Given the description of an element on the screen output the (x, y) to click on. 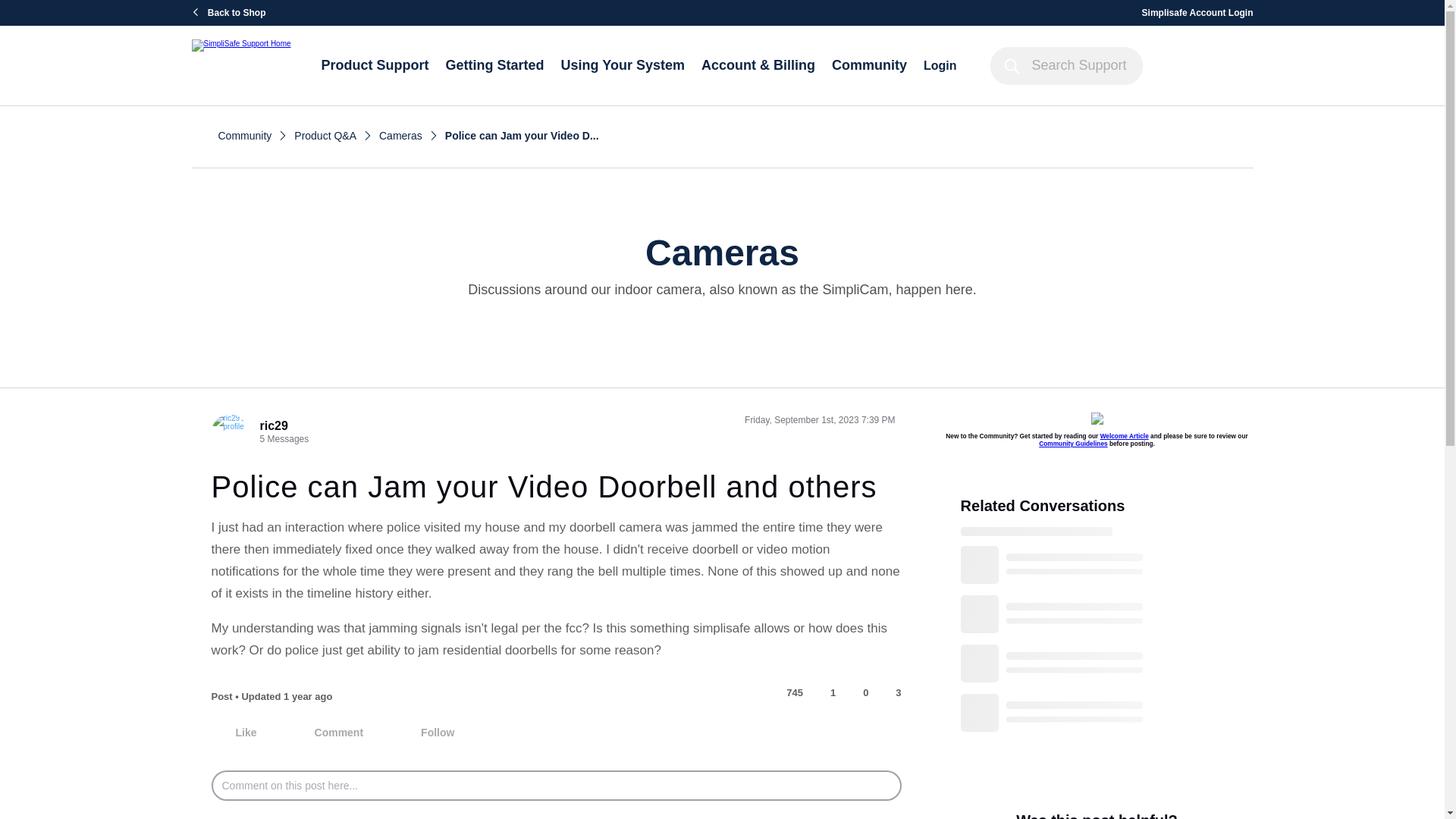
Getting Started (502, 65)
Comment (327, 732)
Welcome Article (1124, 435)
Loading... (1066, 633)
ric29 (272, 425)
Community Guidelines (1072, 443)
3 (892, 693)
Product Support (383, 65)
Follow (426, 732)
Using Your System (630, 65)
